Given the description of an element on the screen output the (x, y) to click on. 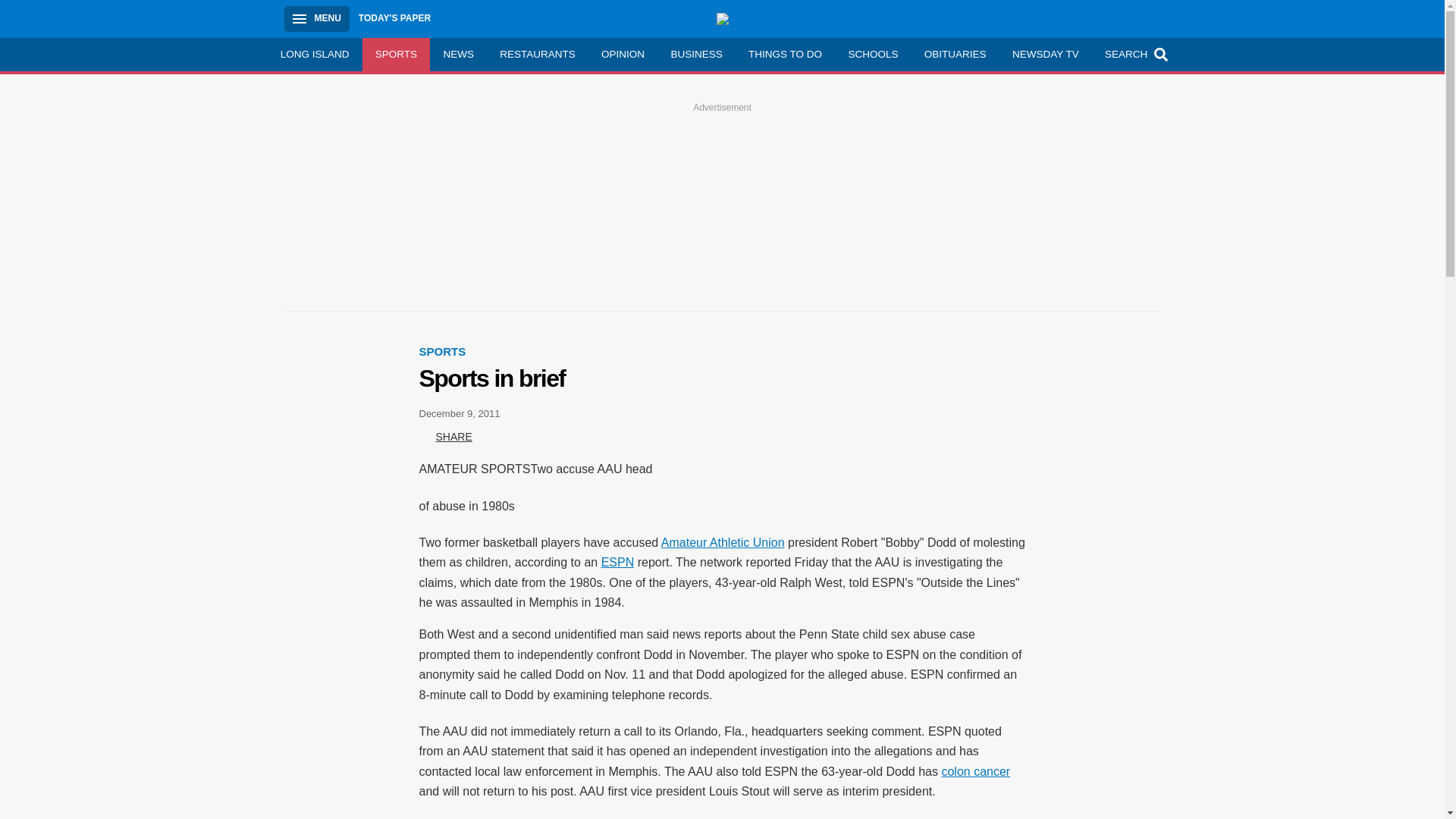
BUSINESS (696, 54)
colon cancer (975, 771)
SPORTS (396, 54)
NEWS (457, 54)
ESPN (617, 562)
NEWSDAY TV (1045, 54)
SCHOOLS (872, 54)
TODAY'S PAPER (394, 18)
RESTAURANTS (537, 54)
SEARCH (1134, 54)
Amateur Athletic Union (722, 542)
SPORTS (442, 350)
THINGS TO DO (784, 54)
MENU (316, 18)
SHARE (445, 436)
